Given the description of an element on the screen output the (x, y) to click on. 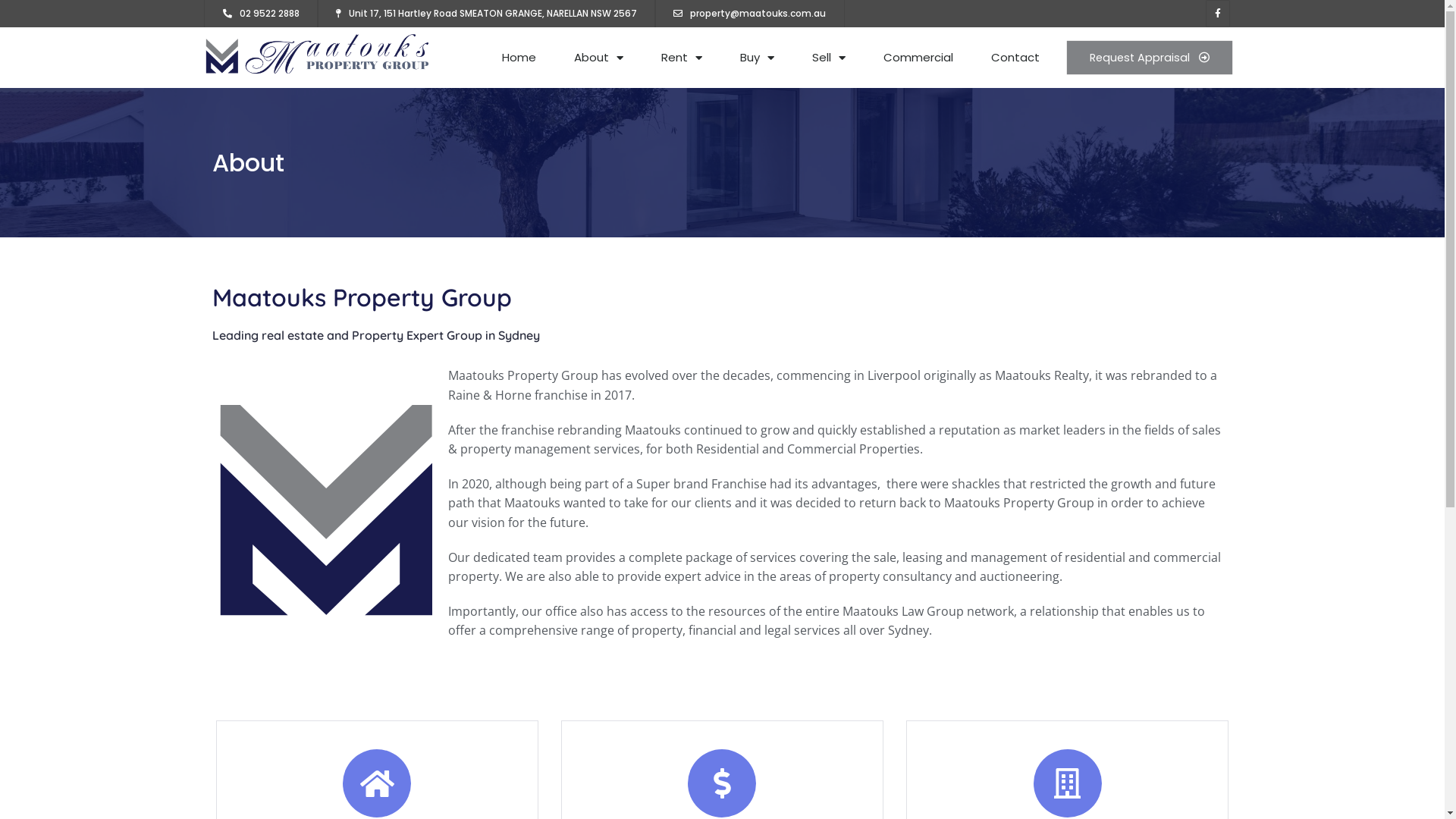
About Element type: text (598, 57)
Buy Element type: text (756, 57)
property@maatouks.com.au Element type: text (749, 13)
Rent Element type: text (681, 57)
Contact Element type: text (1014, 57)
Request Appraisal Element type: text (1149, 57)
Home Element type: text (518, 57)
Sell Element type: text (828, 57)
Commercial Element type: text (918, 57)
02 9522 2888 Element type: text (260, 13)
Unit 17, 151 Hartley Road SMEATON GRANGE, NARELLAN NSW 2567 Element type: text (485, 13)
